Given the description of an element on the screen output the (x, y) to click on. 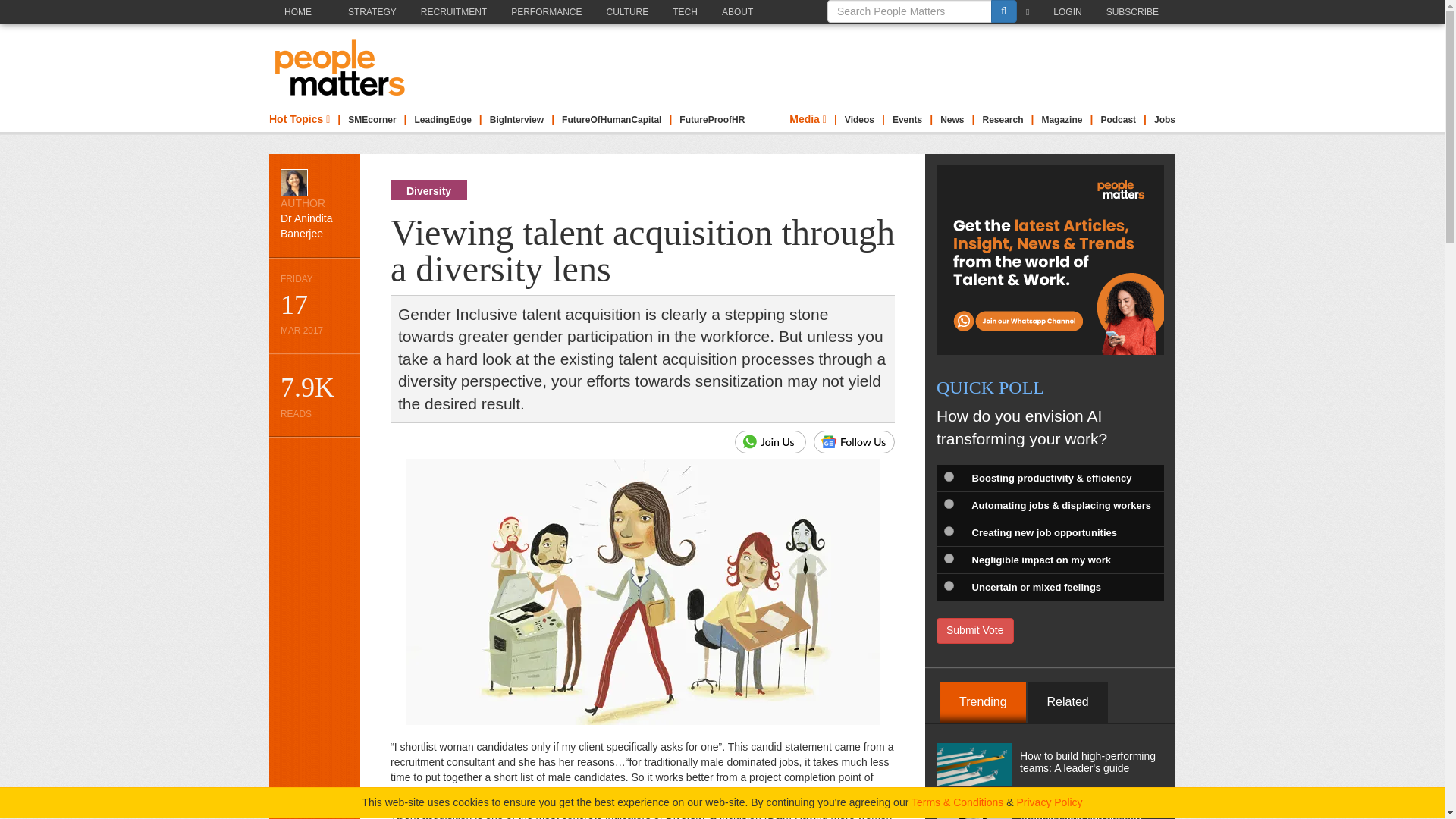
320 (948, 476)
323 (948, 558)
322 (948, 531)
HOME (304, 24)
RECRUITMENT (457, 12)
321 (948, 503)
324 (948, 585)
STRATEGY (376, 12)
